Given the description of an element on the screen output the (x, y) to click on. 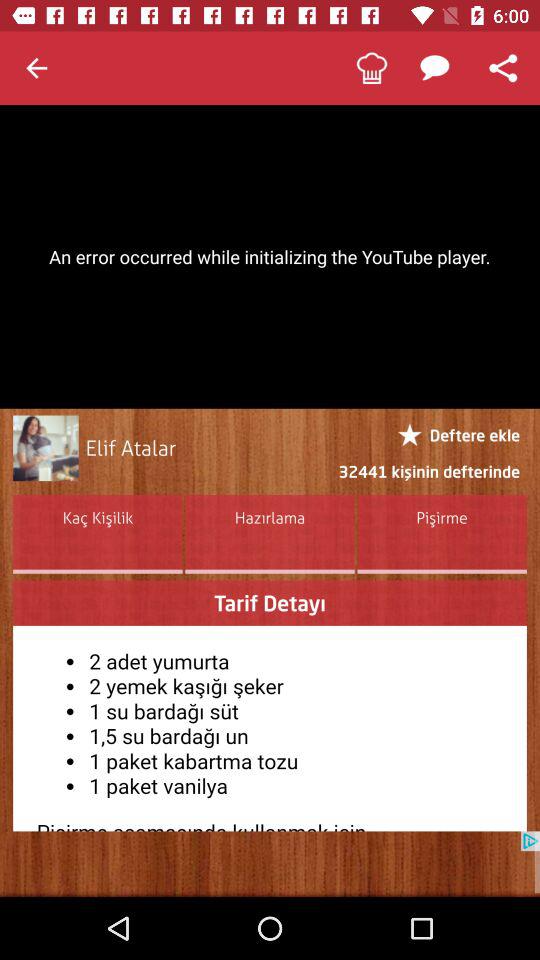
it is a link to an adversiter not shown (270, 864)
